Given the description of an element on the screen output the (x, y) to click on. 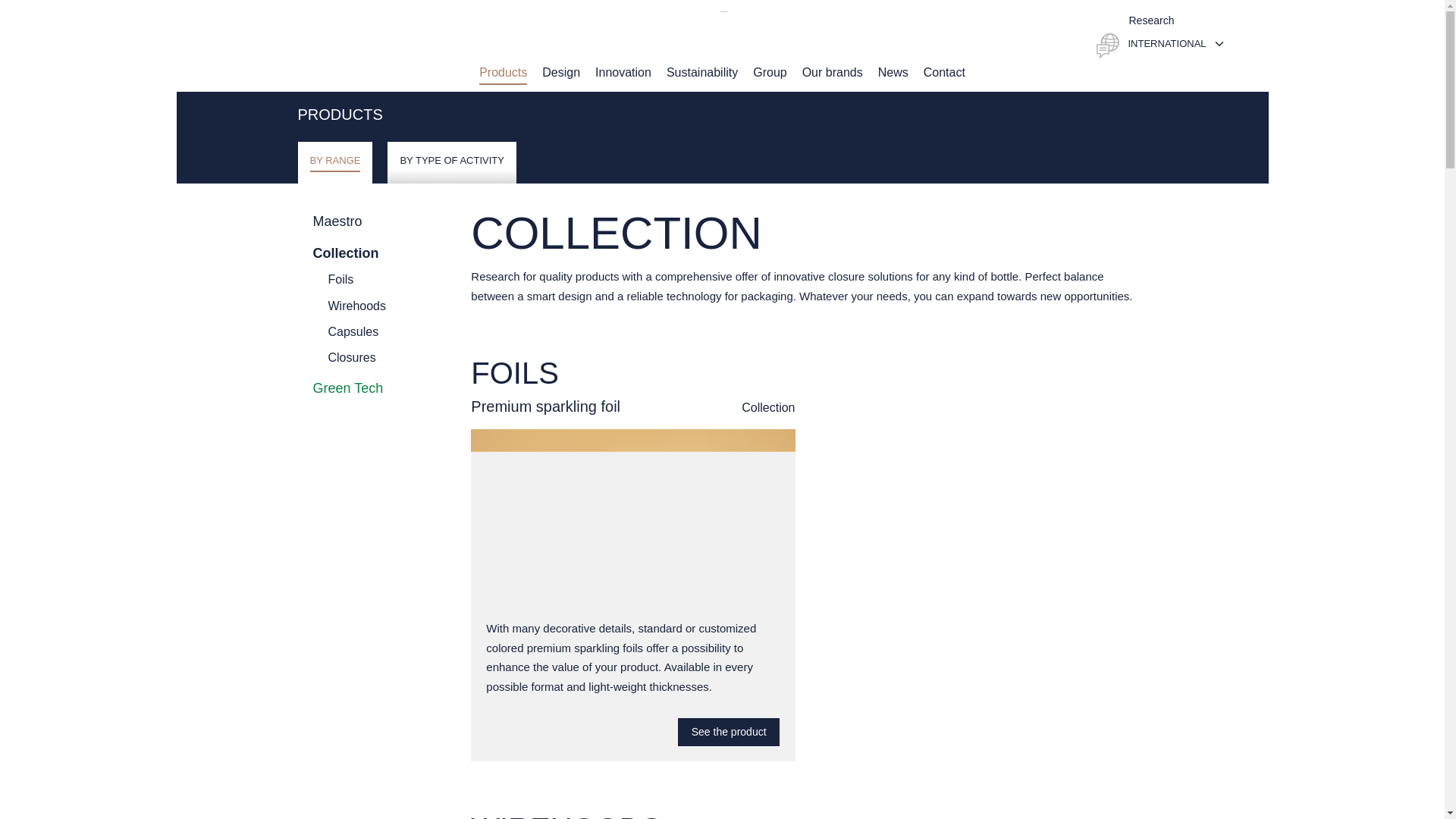
Innovation (622, 72)
Research (1135, 20)
BY RANGE (334, 162)
Crealis leader in closure solutions (722, 33)
BY TYPE OF ACTIVITY (451, 162)
Sustainability (702, 72)
Our brands (832, 72)
Products (503, 72)
Contact (944, 72)
News (892, 72)
Group (769, 72)
Design (560, 72)
